Given the description of an element on the screen output the (x, y) to click on. 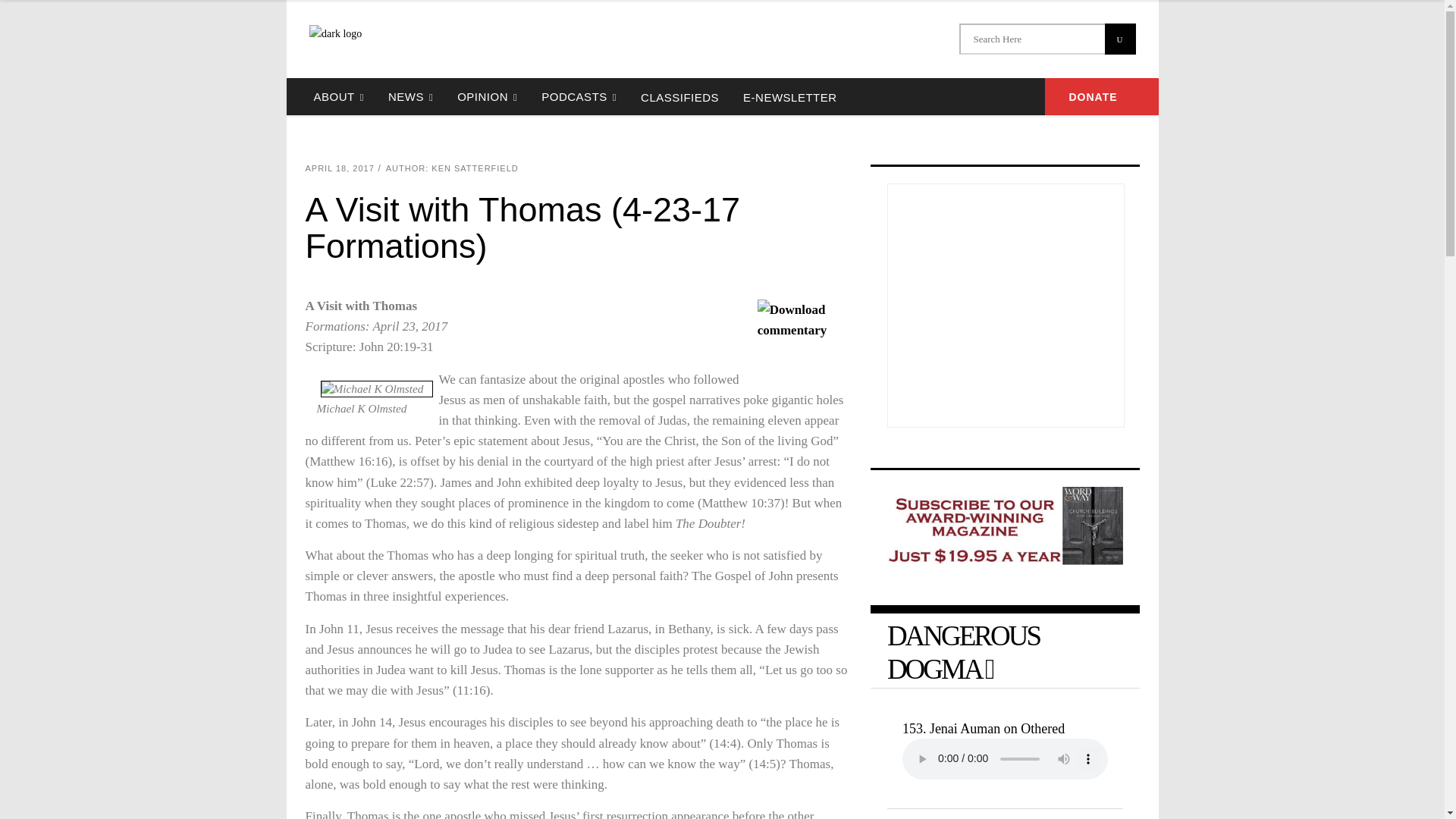
U (1119, 38)
U (1119, 38)
PODCASTS (578, 96)
ABOUT (338, 96)
U (1119, 38)
OPINION (487, 96)
E-NEWSLETTER (789, 96)
NEWS (410, 96)
DONATE (1101, 96)
CLASSIFIEDS (679, 96)
